Given the description of an element on the screen output the (x, y) to click on. 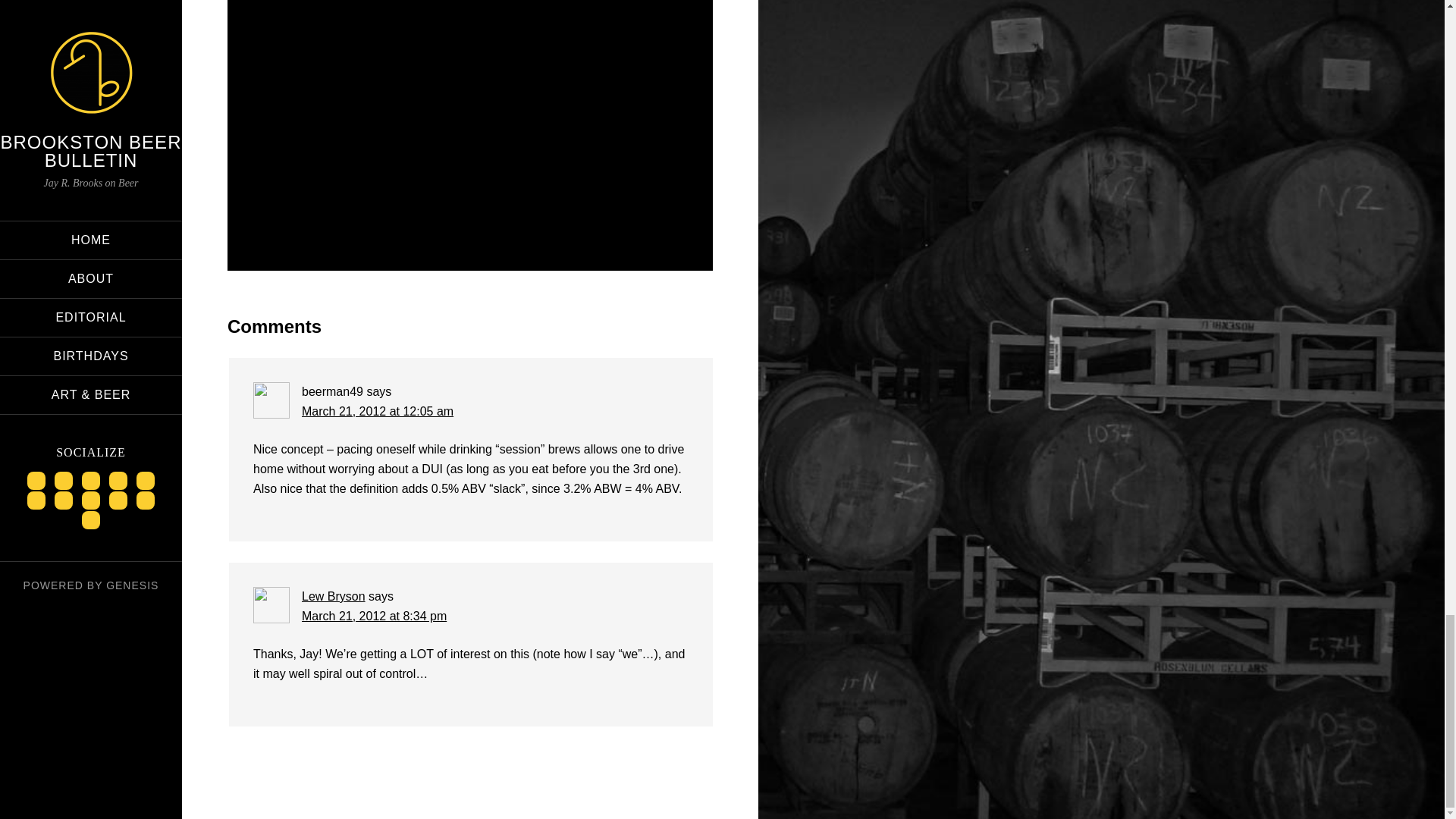
March 21, 2012 at 8:34 pm (373, 615)
Lew Bryson (333, 595)
March 21, 2012 at 12:05 am (376, 410)
Advertisement (469, 117)
